Given the description of an element on the screen output the (x, y) to click on. 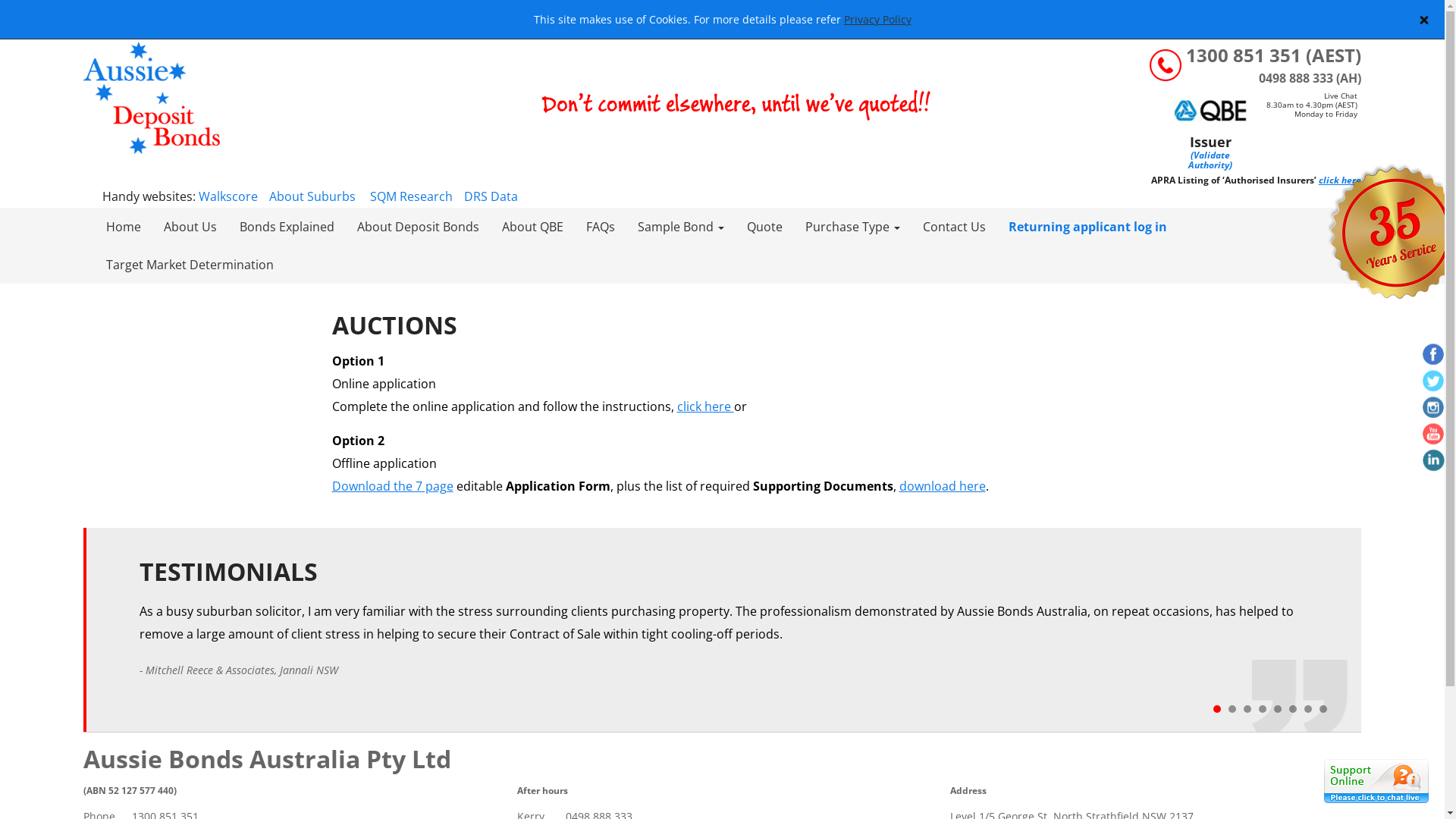
Quote Element type: text (764, 226)
7 Element type: text (1307, 708)
Download the 7 page Element type: text (392, 485)
Contact Us Element type: text (954, 226)
3 Element type: text (1247, 708)
Validate Authority Element type: text (1209, 159)
Returning applicant log in Element type: text (1087, 226)
1 Element type: text (1216, 708)
Target Market Determination Element type: text (189, 264)
About QBE Element type: text (532, 226)
SQM Research Element type: text (411, 196)
download here Element type: text (942, 485)
Prev Element type: text (19, 288)
FAQs Element type: text (600, 226)
Next Element type: text (1424, 288)
Home Element type: text (123, 226)
DRS Data Element type: text (490, 196)
click here Element type: text (704, 406)
Live chat online Element type: hover (1376, 780)
8 Element type: text (1323, 708)
4 Element type: text (1262, 708)
About Deposit Bonds Element type: text (417, 226)
Purchase Type Element type: text (852, 226)
Walkscore Element type: text (227, 196)
Sample Bond Element type: text (680, 226)
About Us Element type: text (190, 226)
click here Element type: text (1339, 179)
About Suburbs Element type: text (312, 196)
Bonds Explained Element type: text (286, 226)
6 Element type: text (1292, 708)
Privacy Policy Element type: text (876, 19)
0498 888 333 (AH) Element type: text (1309, 77)
5 Element type: text (1277, 708)
1300 851 351 (AEST) Element type: text (1273, 57)
2 Element type: text (1232, 708)
Next Element type: text (1288, 650)
Prev Element type: text (159, 650)
